Given the description of an element on the screen output the (x, y) to click on. 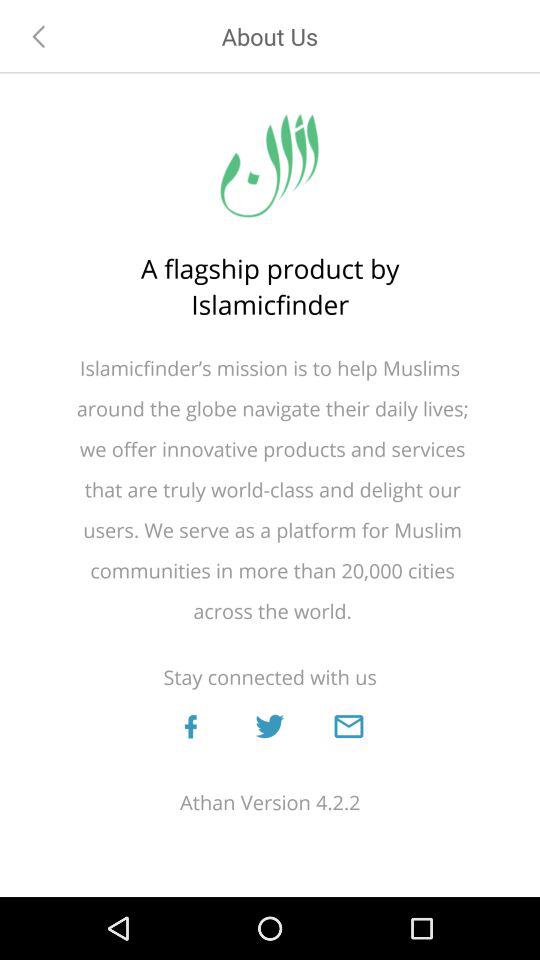
share through email (348, 726)
